Given the description of an element on the screen output the (x, y) to click on. 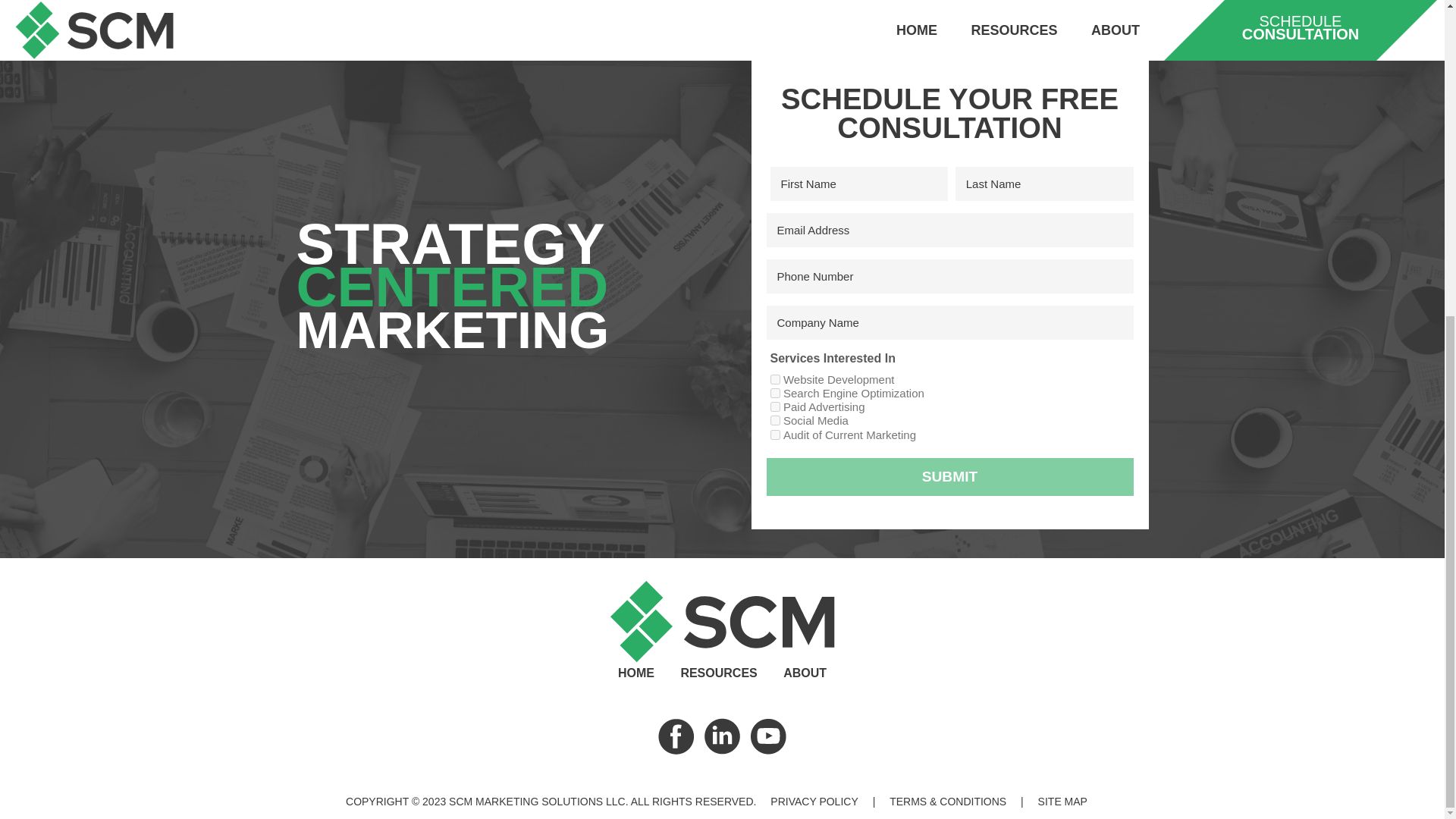
HOME (636, 673)
Social Media (775, 420)
Website Development (775, 379)
Search Engine Optimization (775, 393)
Submit (948, 476)
Audit of Current Marketing (775, 434)
RESOURCES (718, 673)
Submit (948, 476)
Paid Advertising (775, 406)
ABOUT (804, 673)
